Given the description of an element on the screen output the (x, y) to click on. 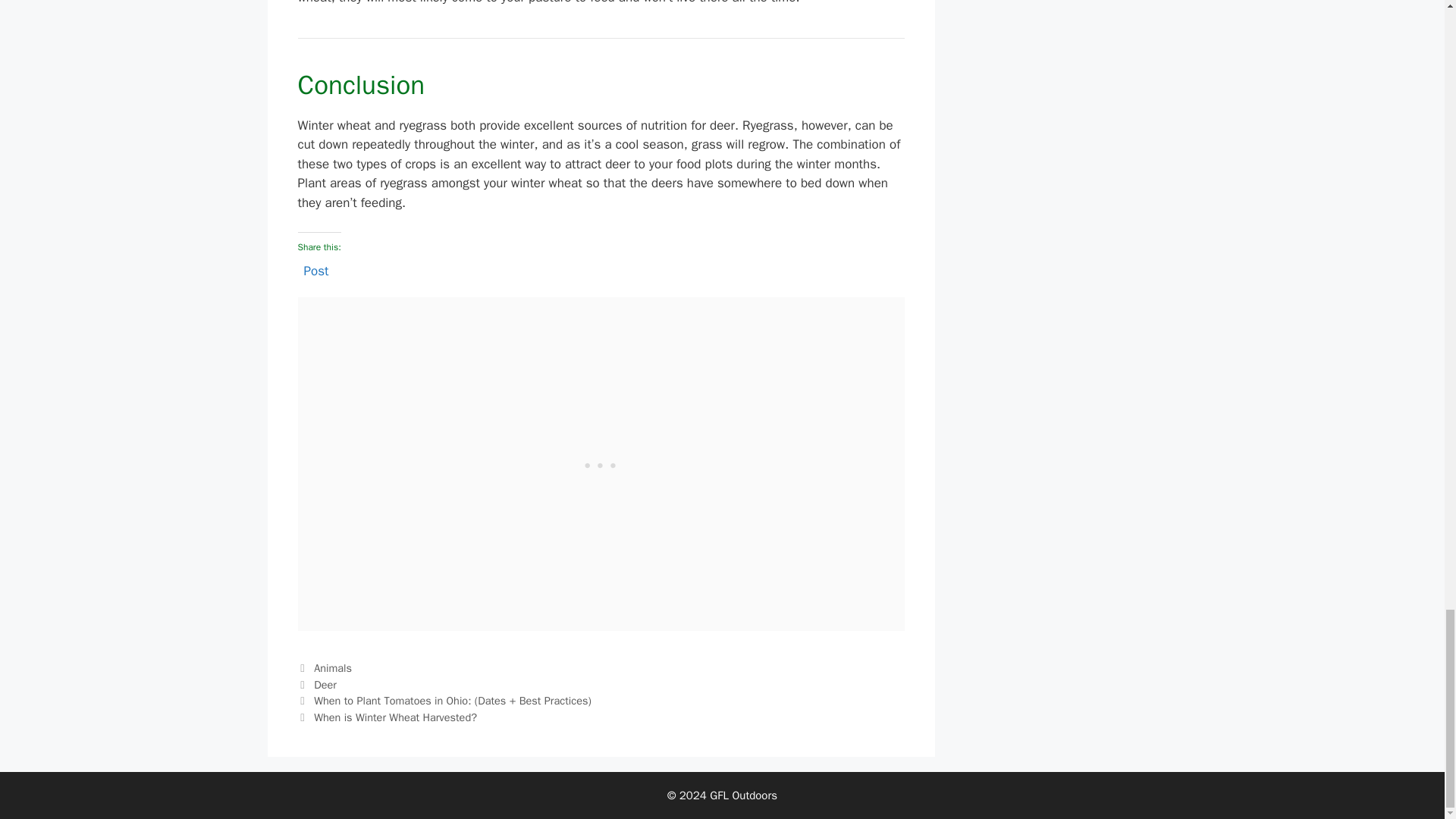
Deer (325, 684)
When is Winter Wheat Harvested? (395, 716)
Animals (333, 667)
Post (315, 268)
